Given the description of an element on the screen output the (x, y) to click on. 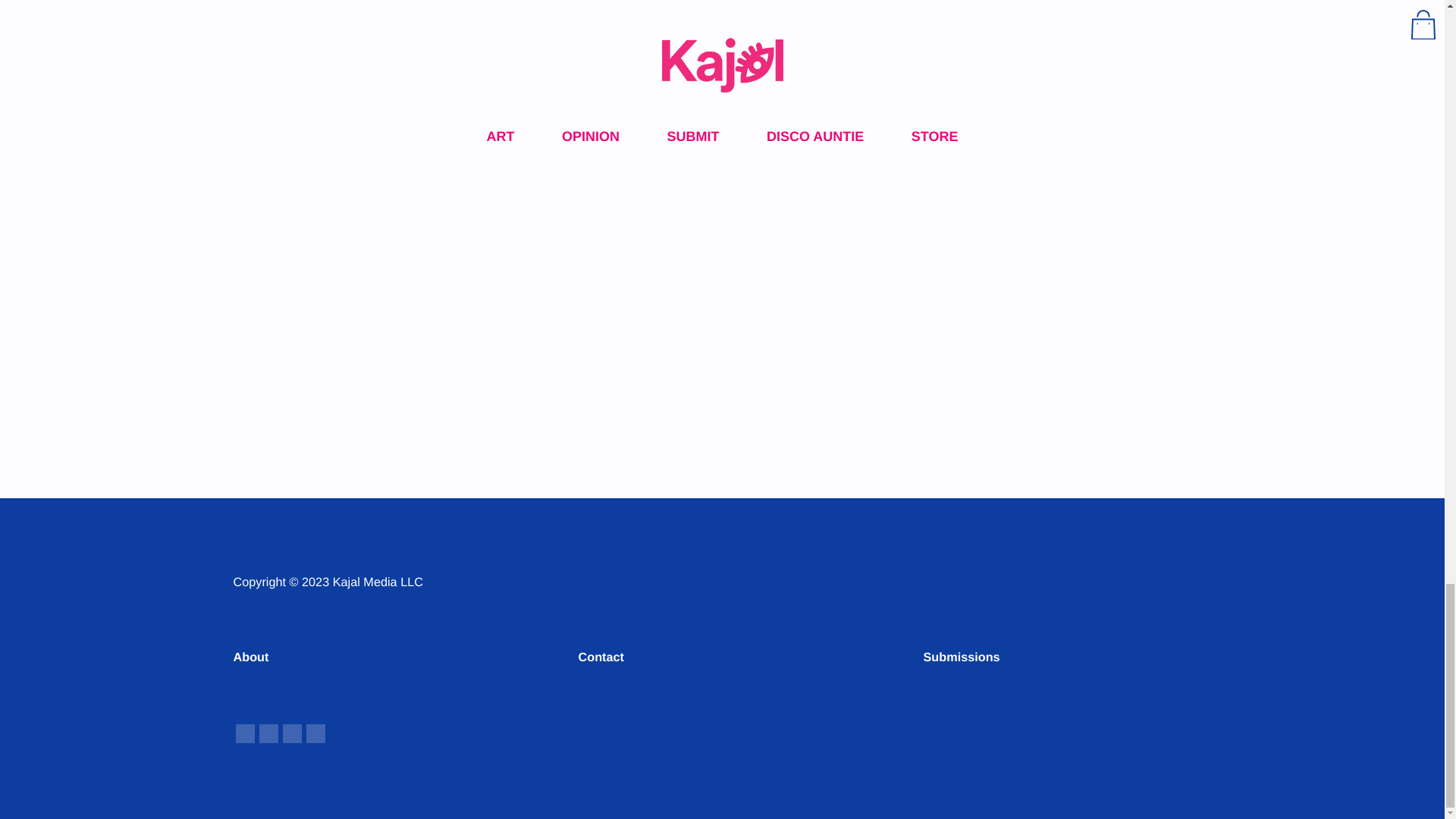
Submissions (961, 657)
About (250, 657)
Contact (601, 657)
